Given the description of an element on the screen output the (x, y) to click on. 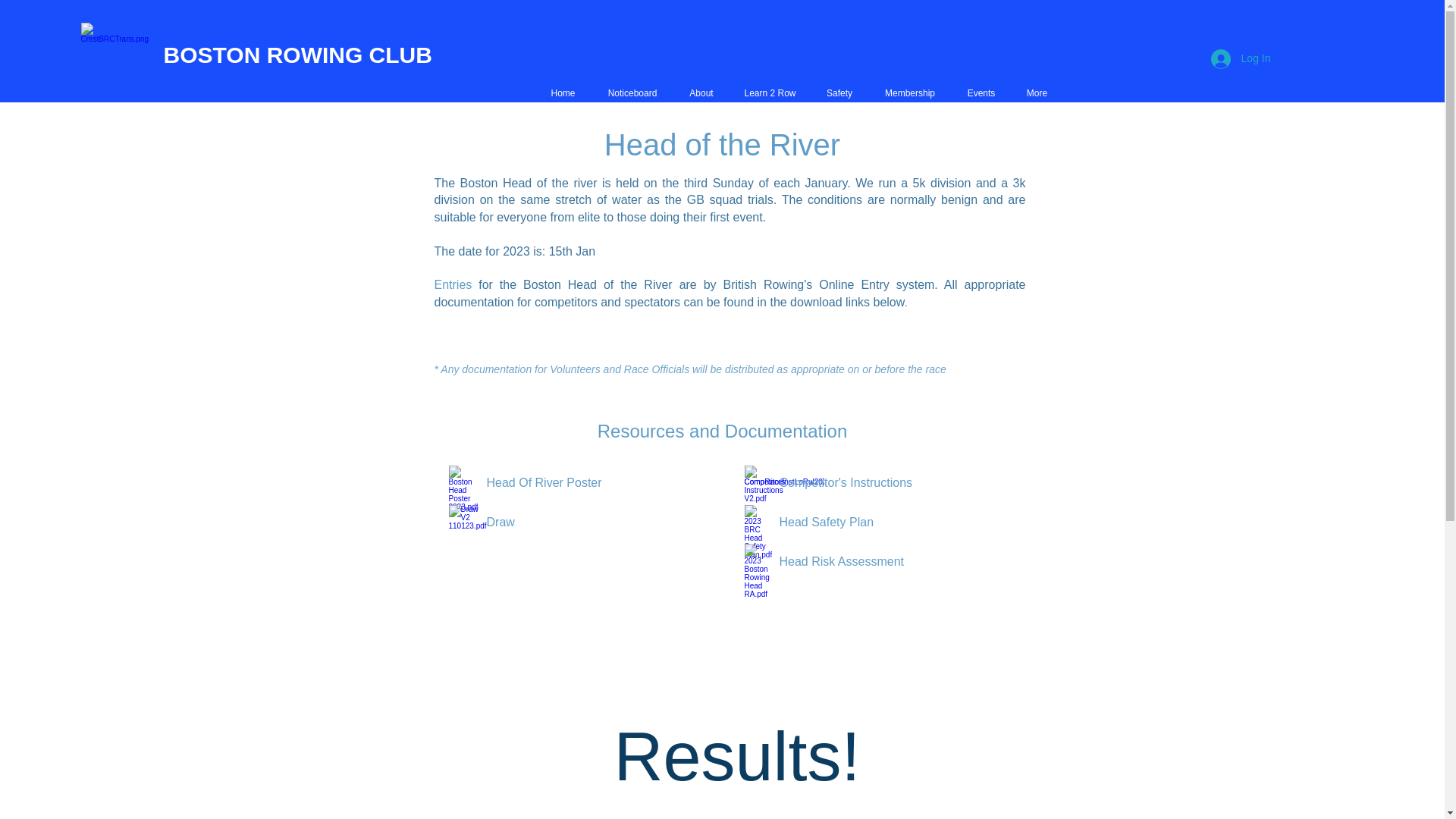
Log In (1240, 59)
Home (563, 93)
Safety (838, 93)
Noticeboard (632, 93)
Learn 2 Row (769, 93)
